Given the description of an element on the screen output the (x, y) to click on. 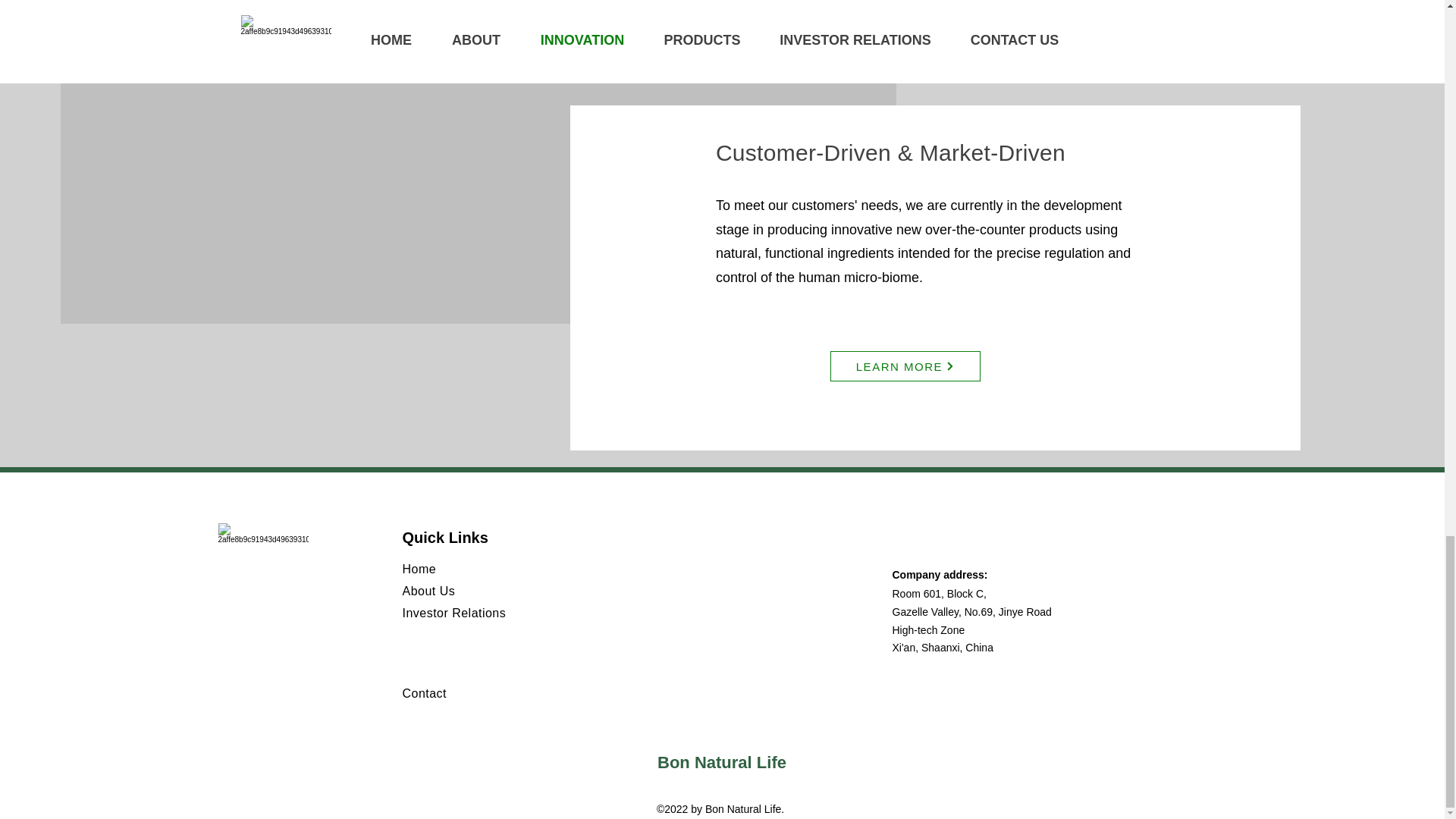
LEARN MORE (904, 366)
Home (418, 568)
Contact  (425, 693)
Investor Relations (453, 612)
About Us (427, 590)
